Given the description of an element on the screen output the (x, y) to click on. 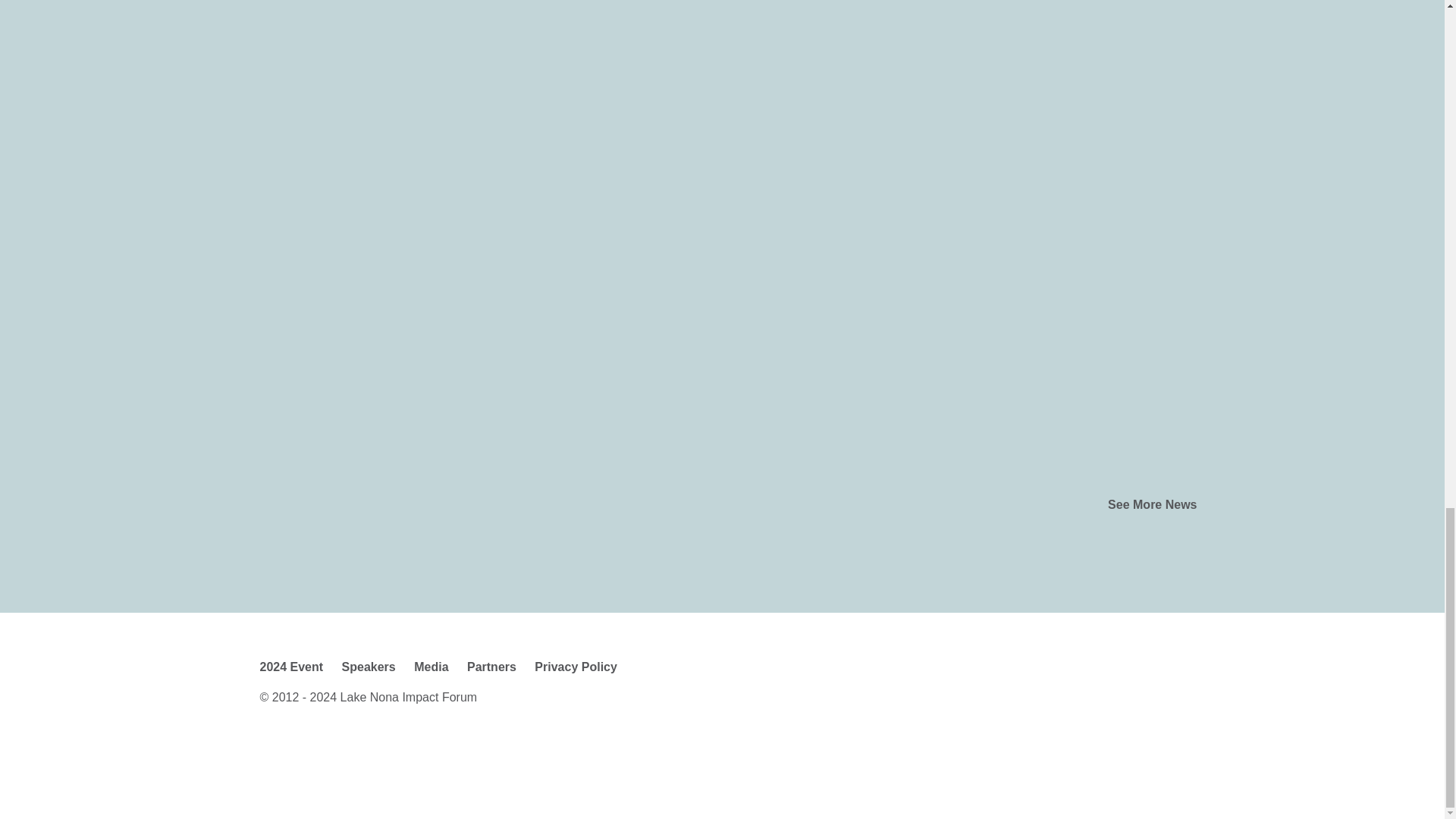
Media (430, 666)
2024 Event (291, 666)
LinkedIn (400, 745)
See More News (1152, 508)
Facebook (271, 745)
Speakers (369, 666)
Twitter (314, 745)
Privacy Policy (575, 666)
Instagram (357, 745)
Partners (491, 666)
